Given the description of an element on the screen output the (x, y) to click on. 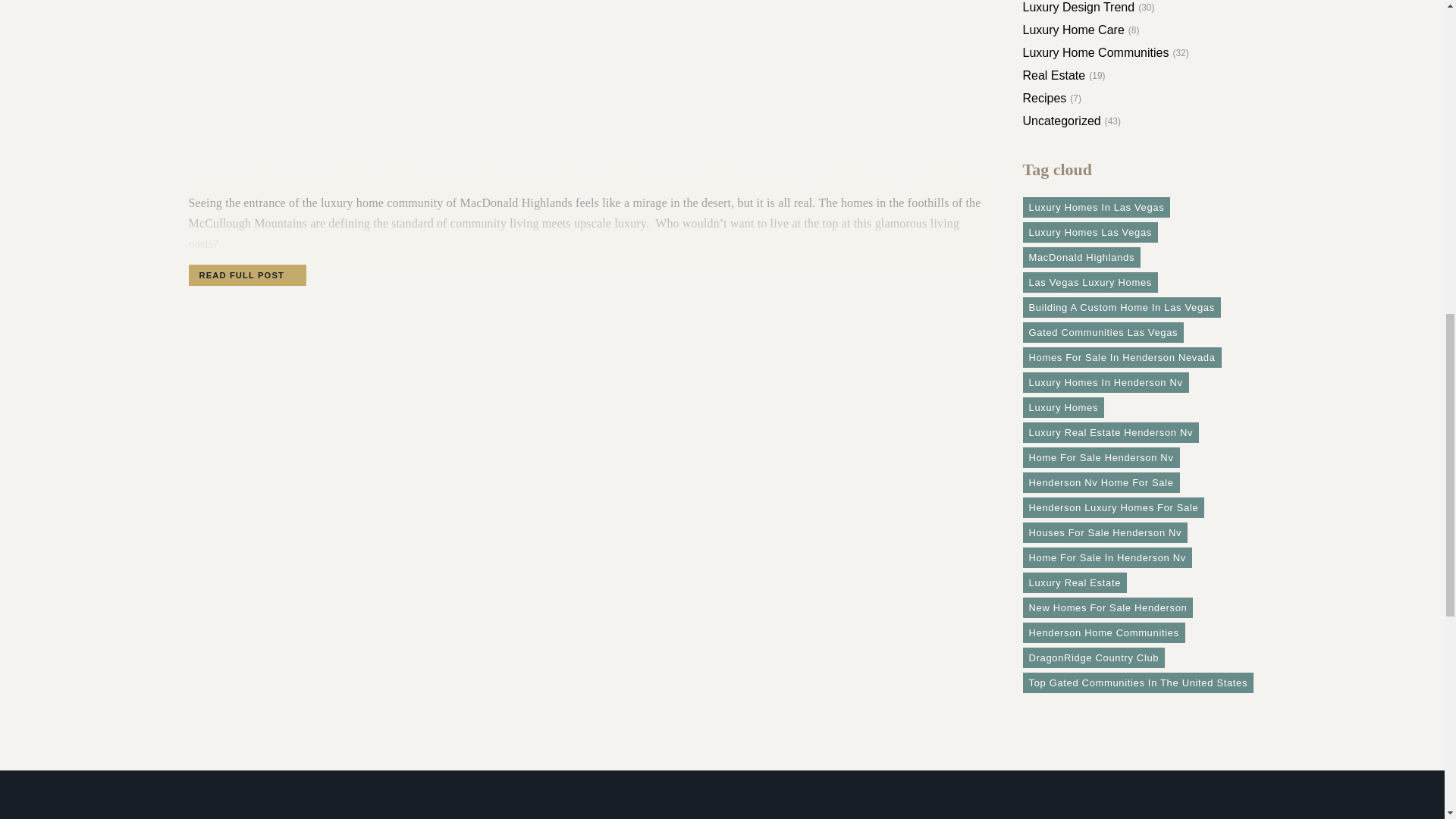
39 topics (1110, 432)
35 topics (1113, 507)
57 topics (1089, 281)
43 topics (1121, 357)
89 topics (1096, 207)
39 topics (1100, 457)
41 topics (1062, 407)
45 topics (1102, 332)
54 topics (1121, 307)
73 topics (1081, 257)
